Given the description of an element on the screen output the (x, y) to click on. 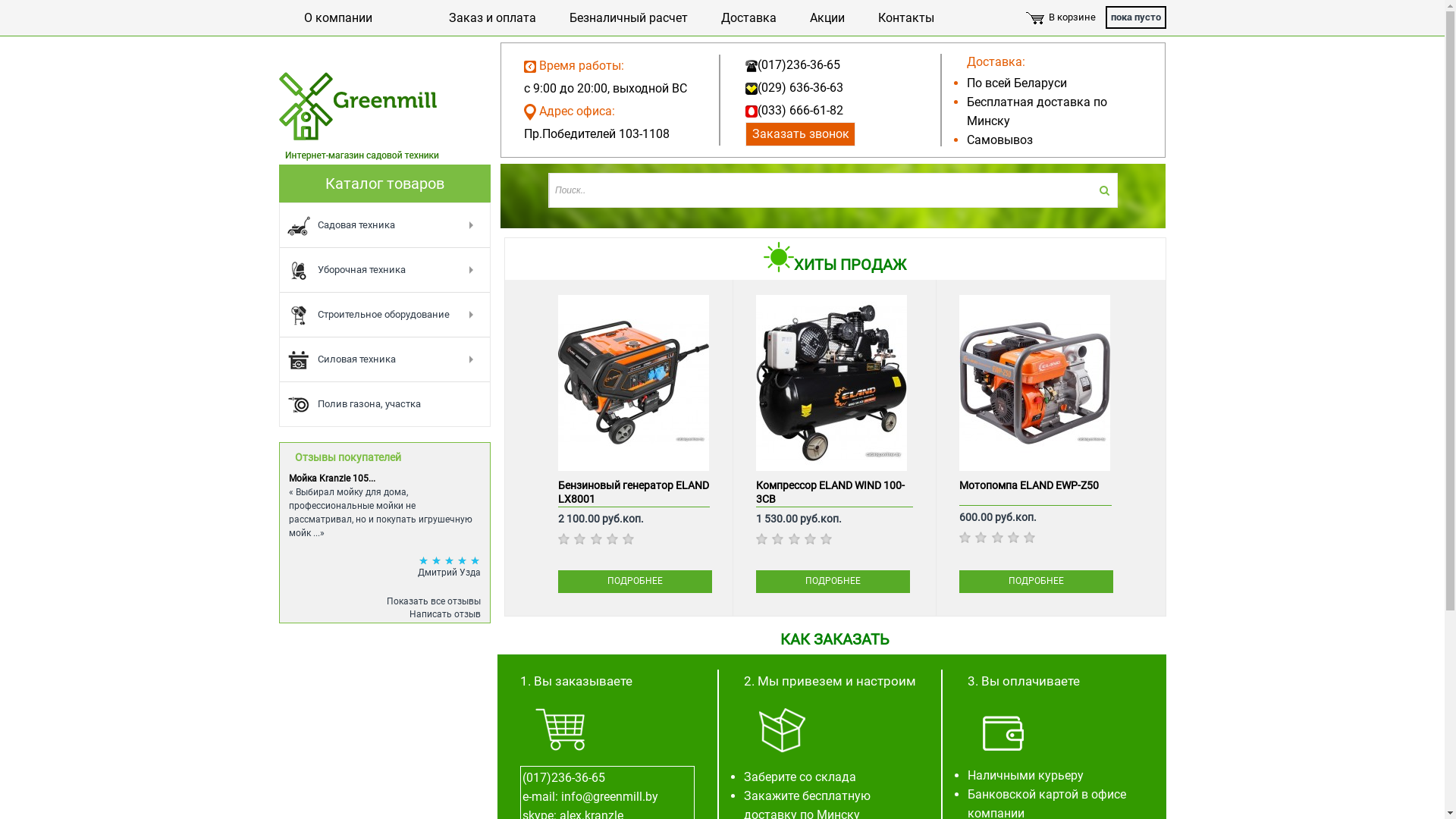
Greenmill Element type: hover (359, 116)
